Given the description of an element on the screen output the (x, y) to click on. 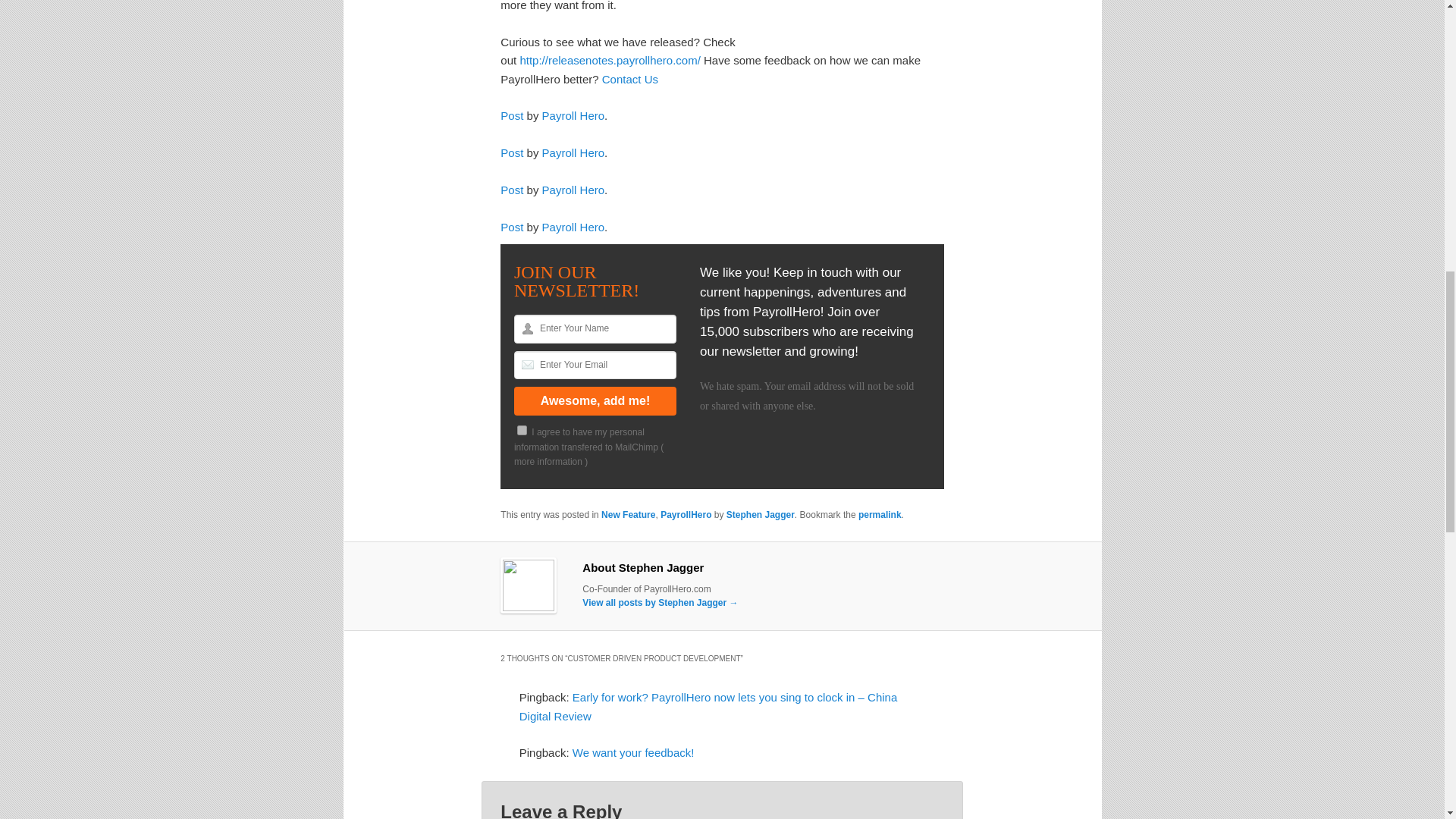
Payroll Hero (573, 115)
Payroll Hero (573, 152)
permalink (880, 514)
Post (511, 226)
Post (511, 152)
more information (547, 461)
Stephen Jagger (760, 514)
Post (511, 115)
on (521, 429)
Awesome, add me! (595, 400)
